Given the description of an element on the screen output the (x, y) to click on. 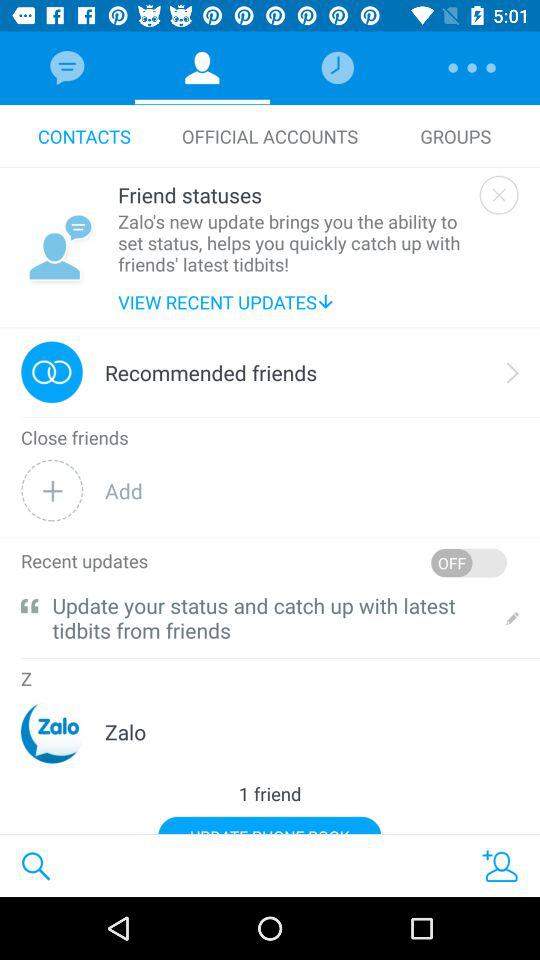
flip to the z (26, 679)
